Given the description of an element on the screen output the (x, y) to click on. 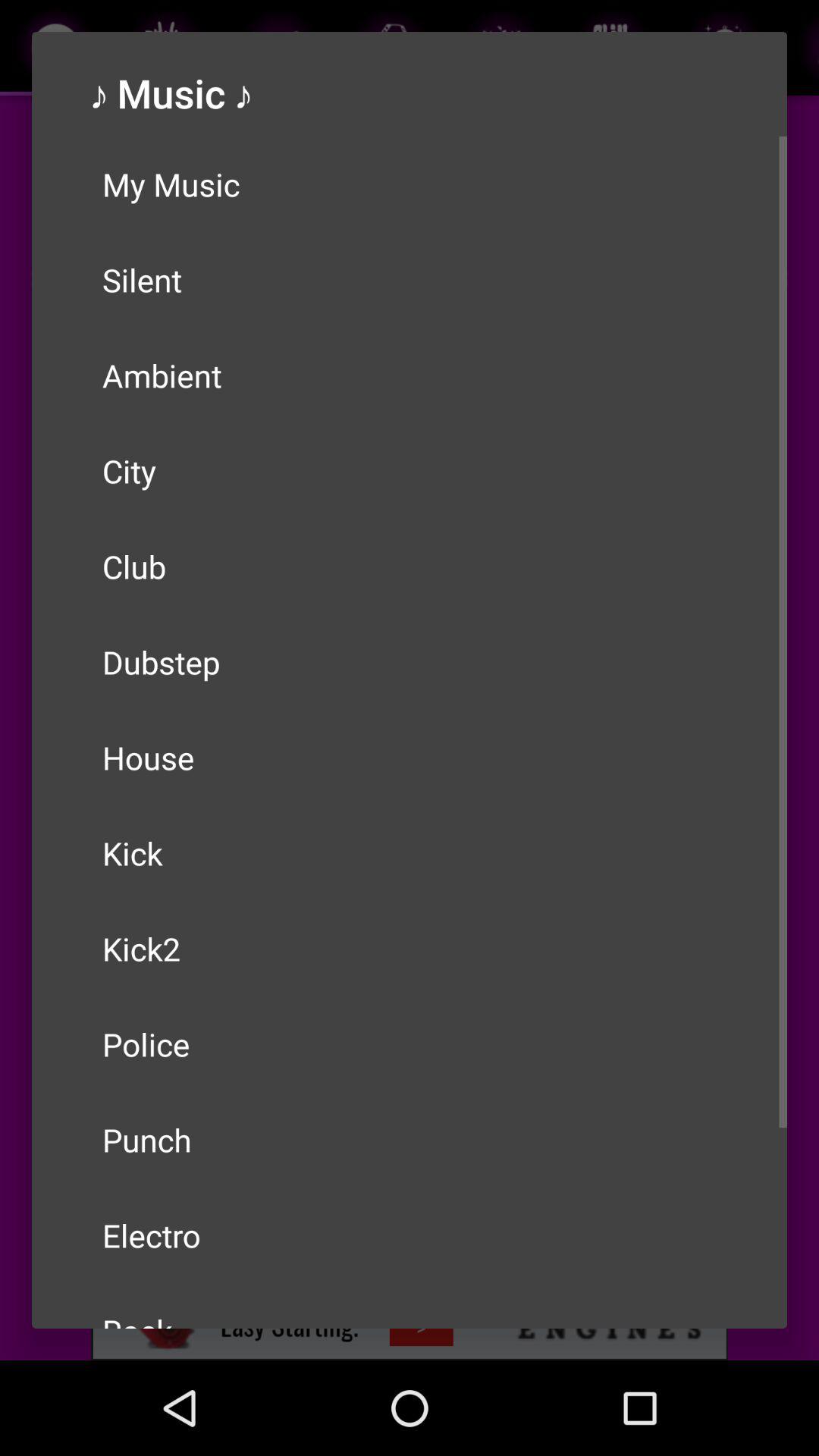
scroll until city icon (409, 470)
